Given the description of an element on the screen output the (x, y) to click on. 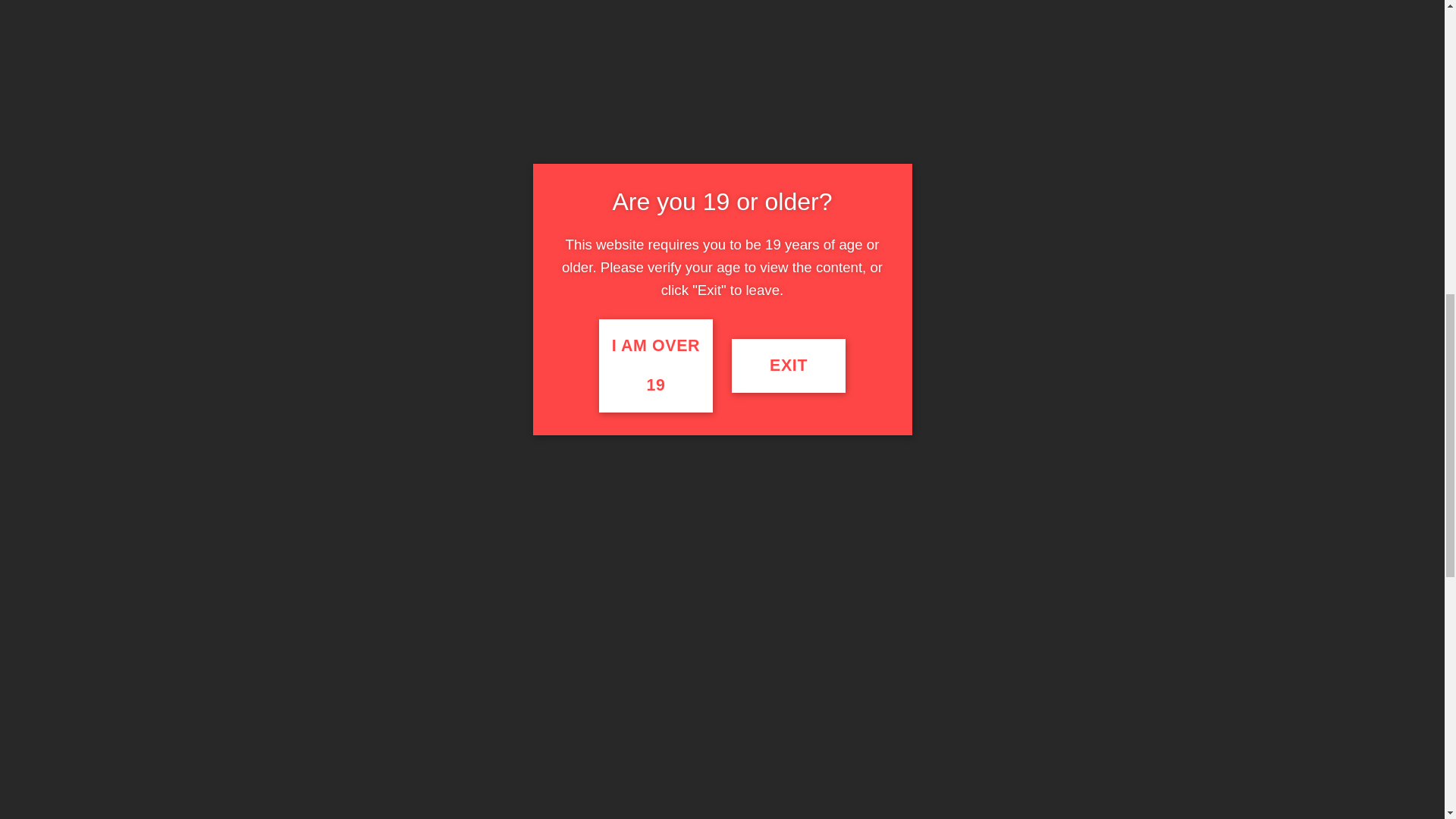
Submit (523, 449)
yes (492, 404)
